Given the description of an element on the screen output the (x, y) to click on. 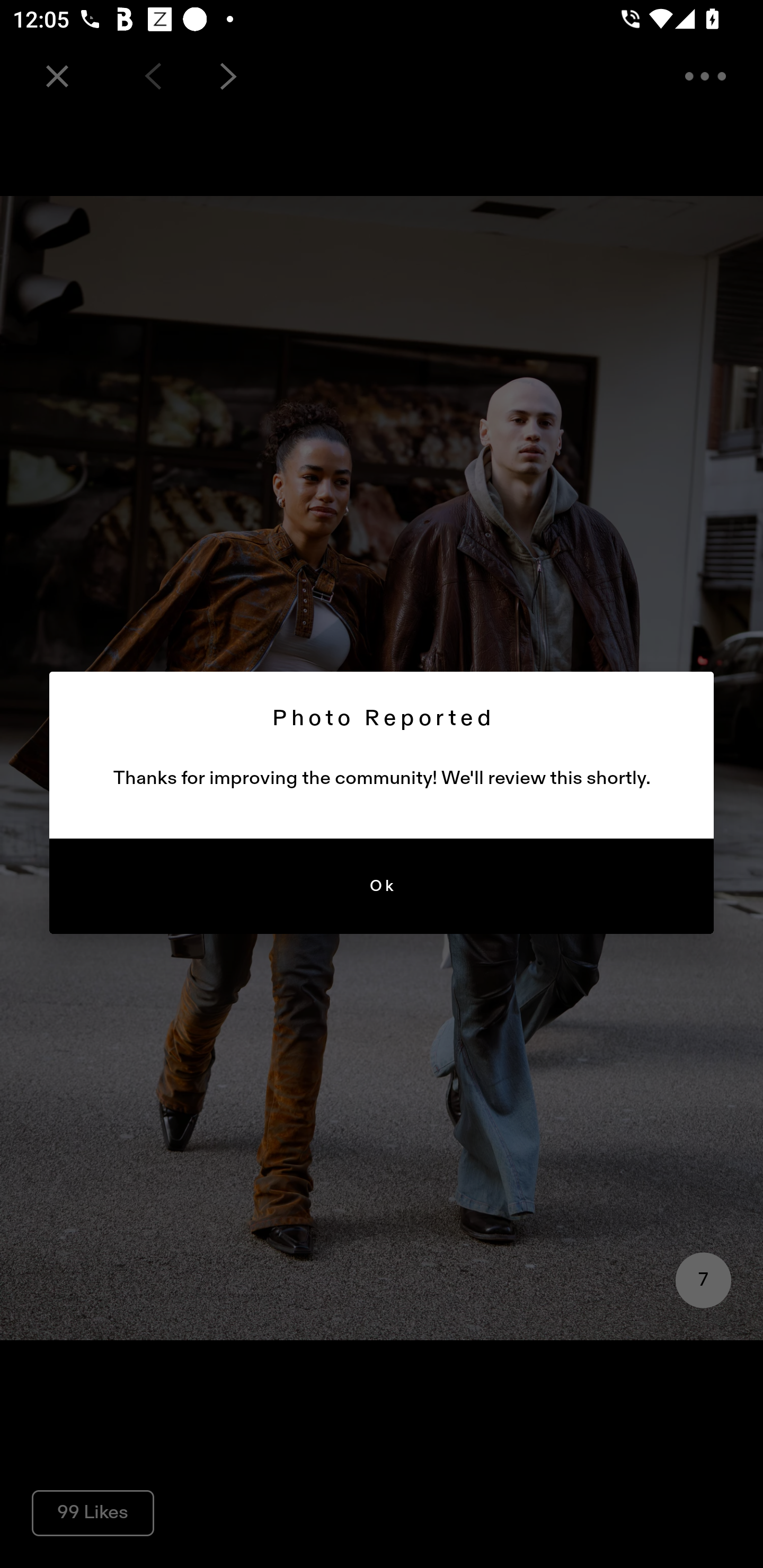
Ok (381, 886)
